Given the description of an element on the screen output the (x, y) to click on. 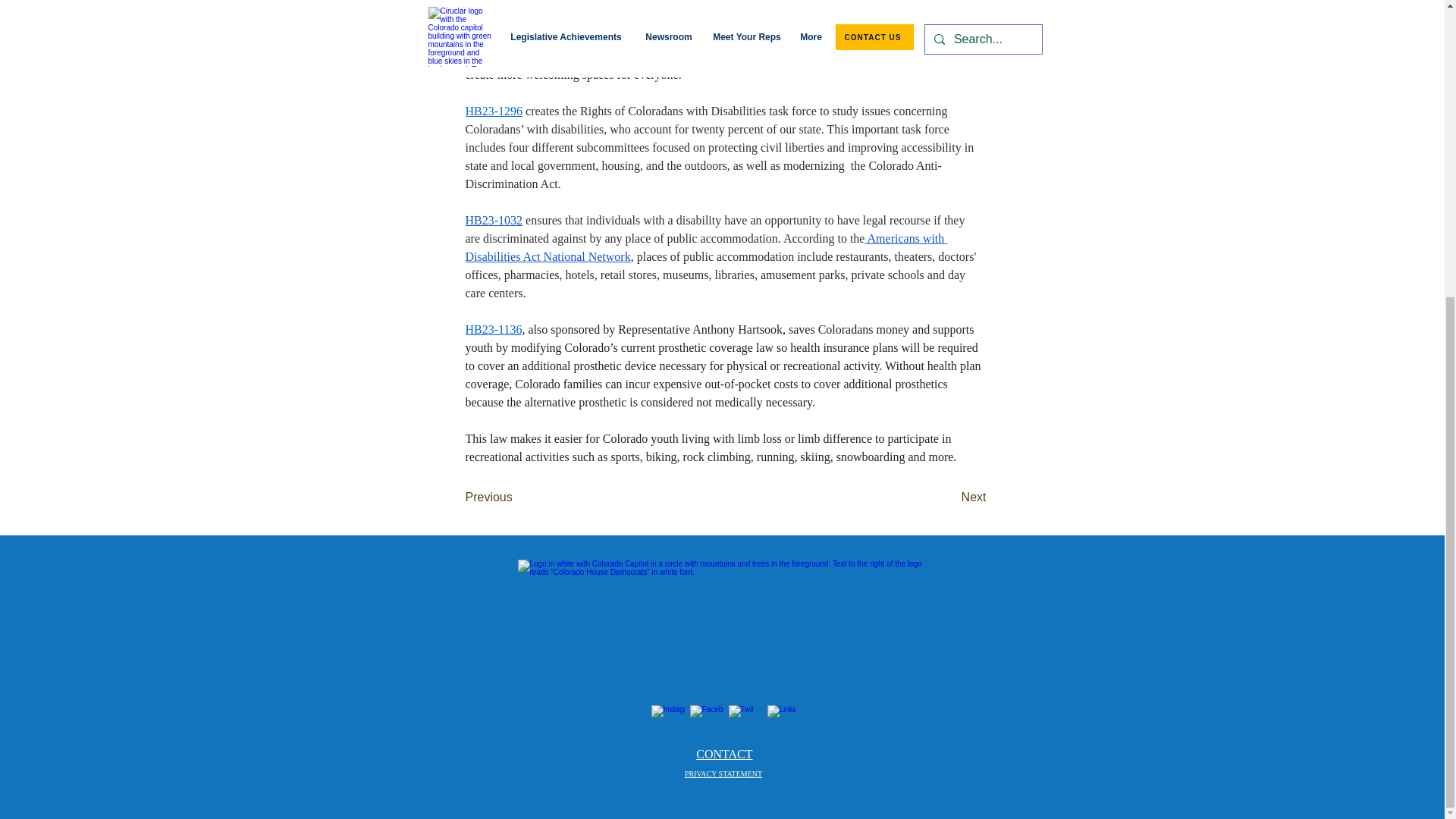
Previous (515, 497)
PRIVACY STATEMENT (722, 773)
Next (947, 497)
 Americans with Disabilities Act National Network (706, 246)
CONTACT (723, 753)
HB23-1296 (493, 110)
HB23-1032 (493, 219)
HB23-1136 (493, 328)
